Given the description of an element on the screen output the (x, y) to click on. 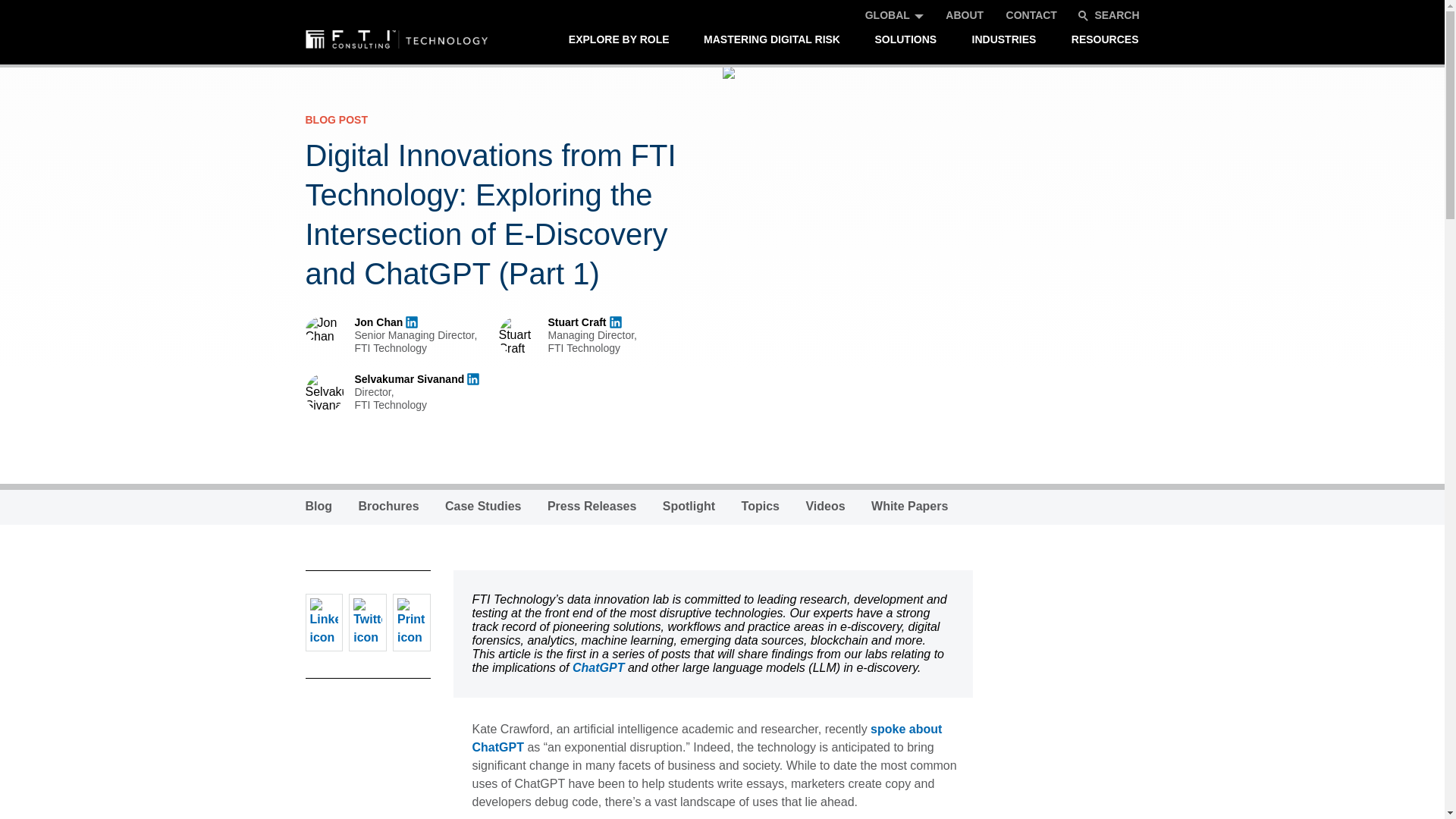
MASTERING DIGITAL RISK (772, 39)
EXPLORE BY ROLE (618, 39)
SOLUTIONS (905, 39)
CONTACT (1031, 15)
SEARCH (1108, 15)
GLOBAL (887, 15)
ABOUT (964, 15)
